Given the description of an element on the screen output the (x, y) to click on. 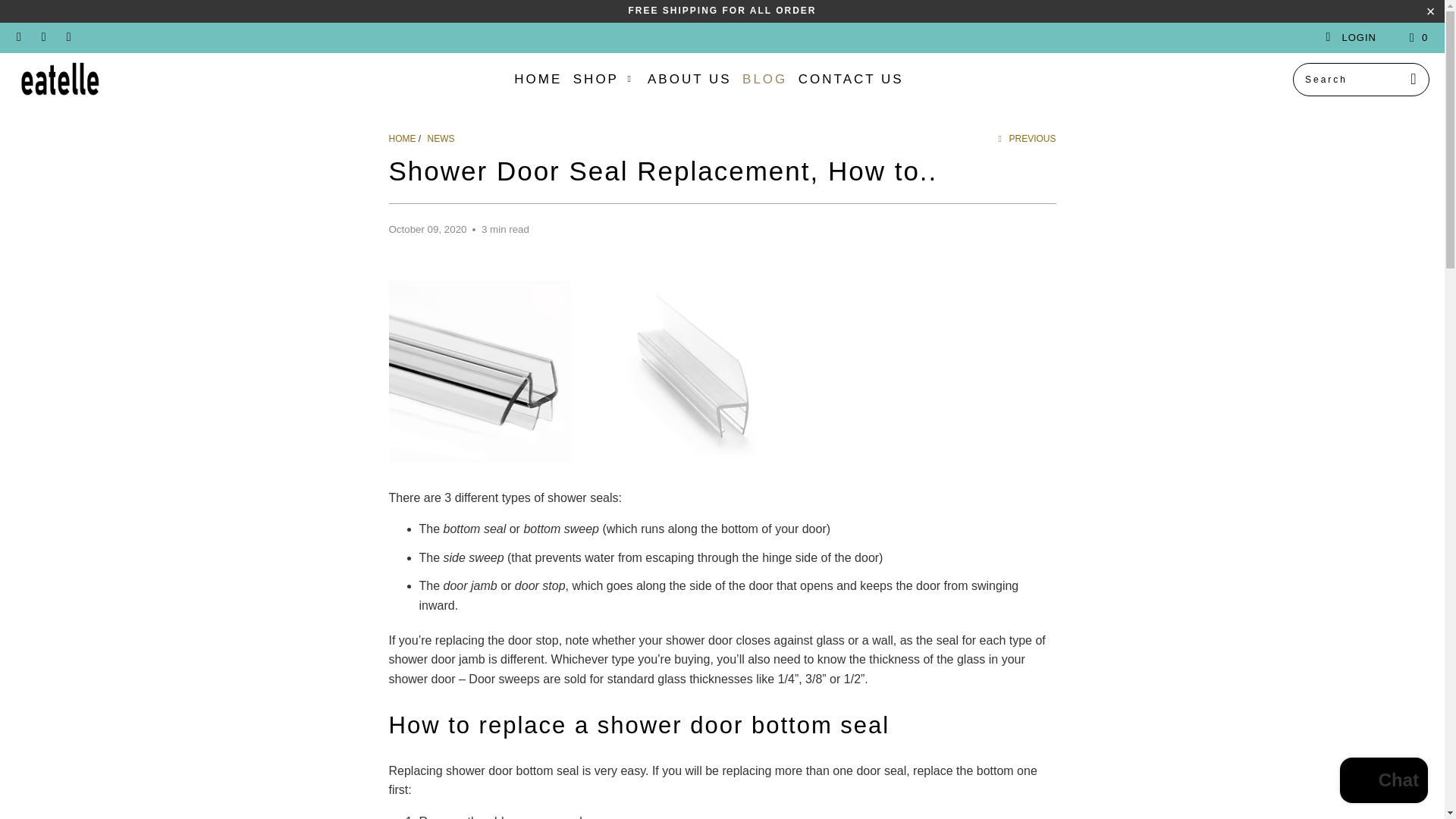
SHOP (605, 79)
News (441, 138)
ABOUT US (689, 79)
eatelle (401, 138)
Email eatelle (68, 37)
LOGIN (1350, 37)
BLOG (764, 79)
My Account  (1350, 37)
eatelle on Pinterest (42, 37)
CONTACT US (850, 79)
